Given the description of an element on the screen output the (x, y) to click on. 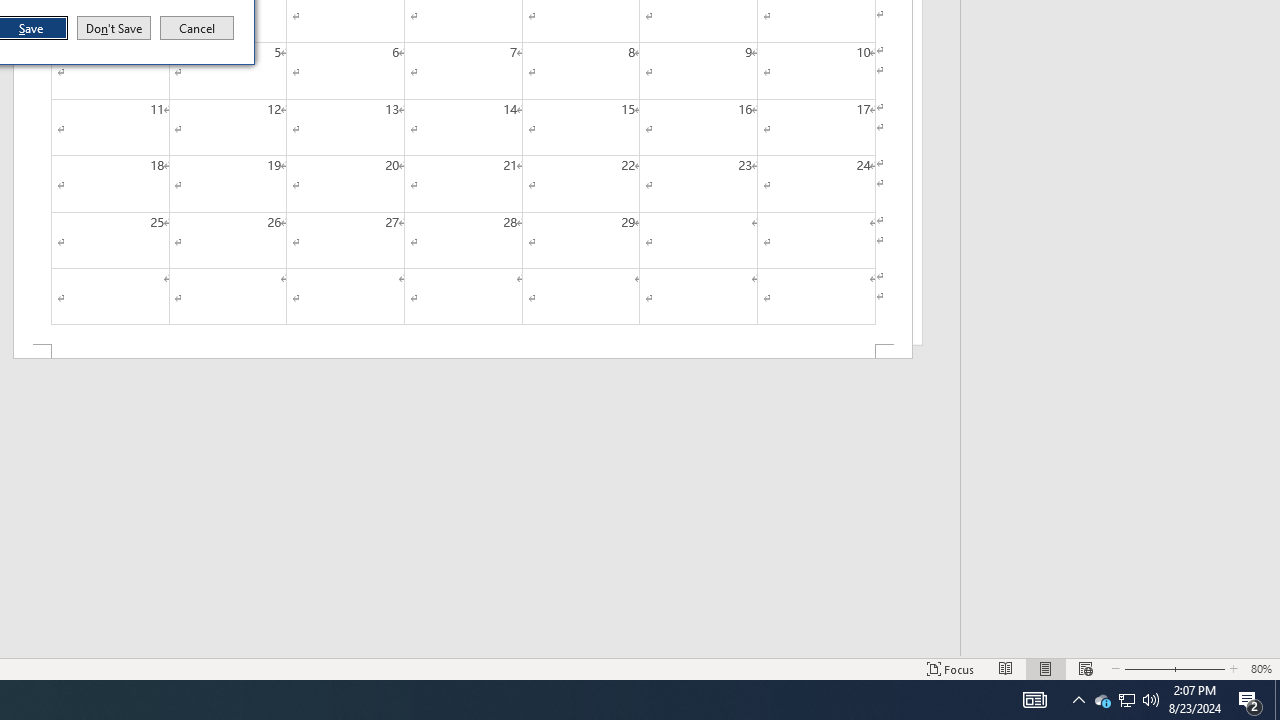
Don't Save (113, 27)
Cancel (197, 27)
Footer -Section 2- (462, 351)
